Given the description of an element on the screen output the (x, y) to click on. 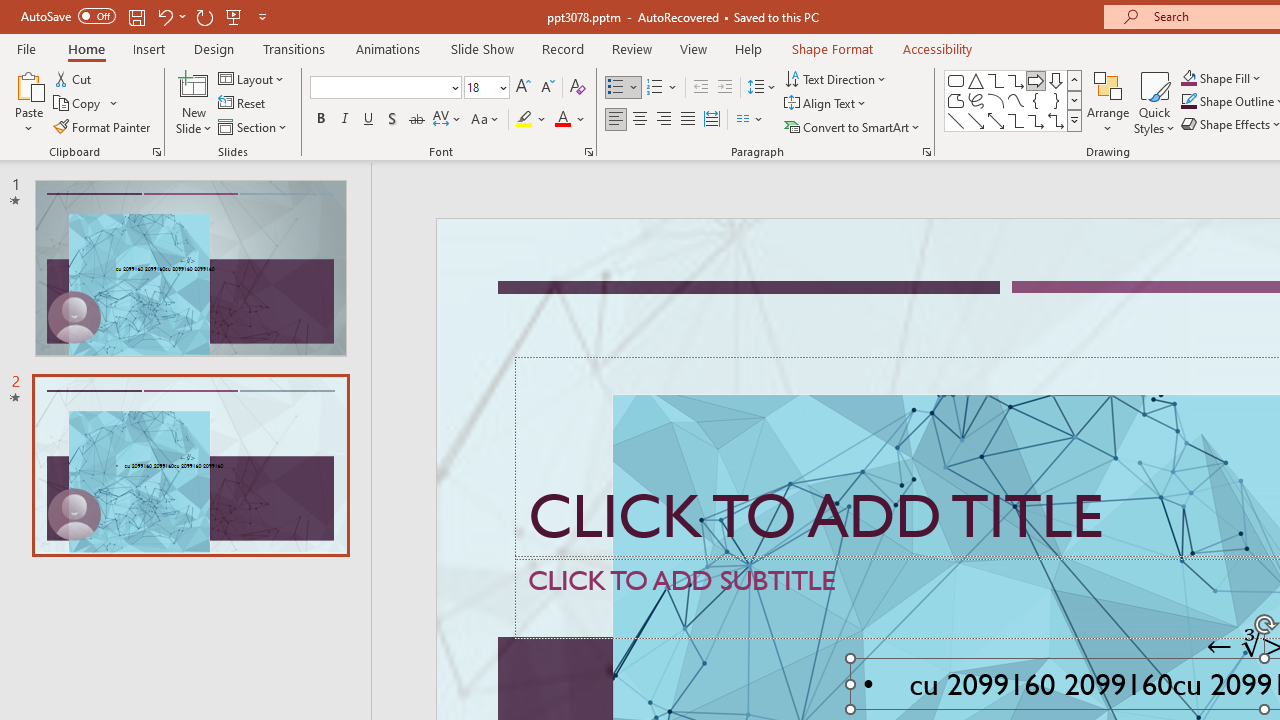
Connector: Elbow Double-Arrow (1055, 120)
